Given the description of an element on the screen output the (x, y) to click on. 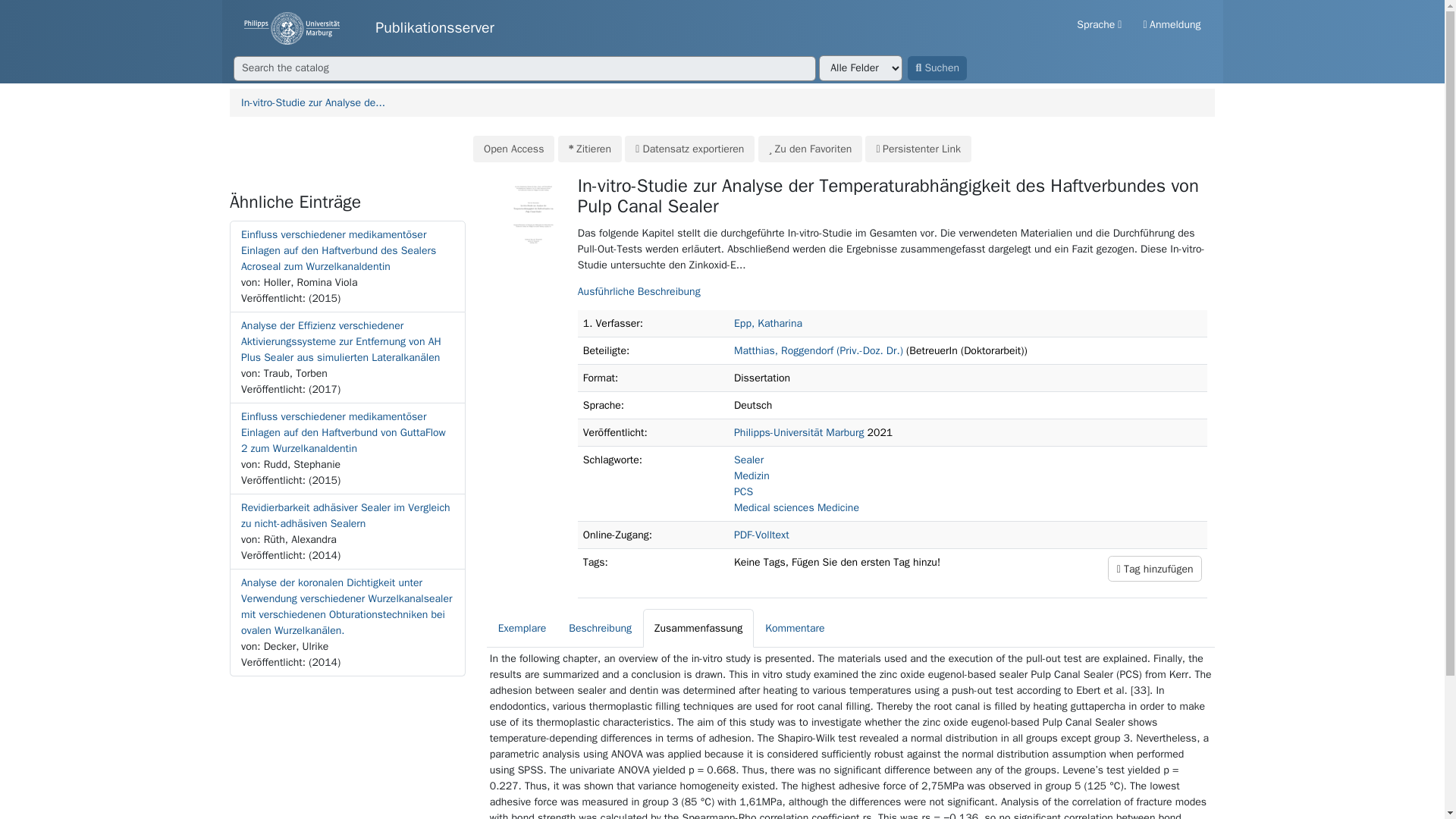
Sprache (1098, 24)
Medical sciences Medicine (796, 507)
PCS (742, 491)
Sealer (747, 459)
Medizin (751, 475)
Publikationsserver (368, 28)
